Given the description of an element on the screen output the (x, y) to click on. 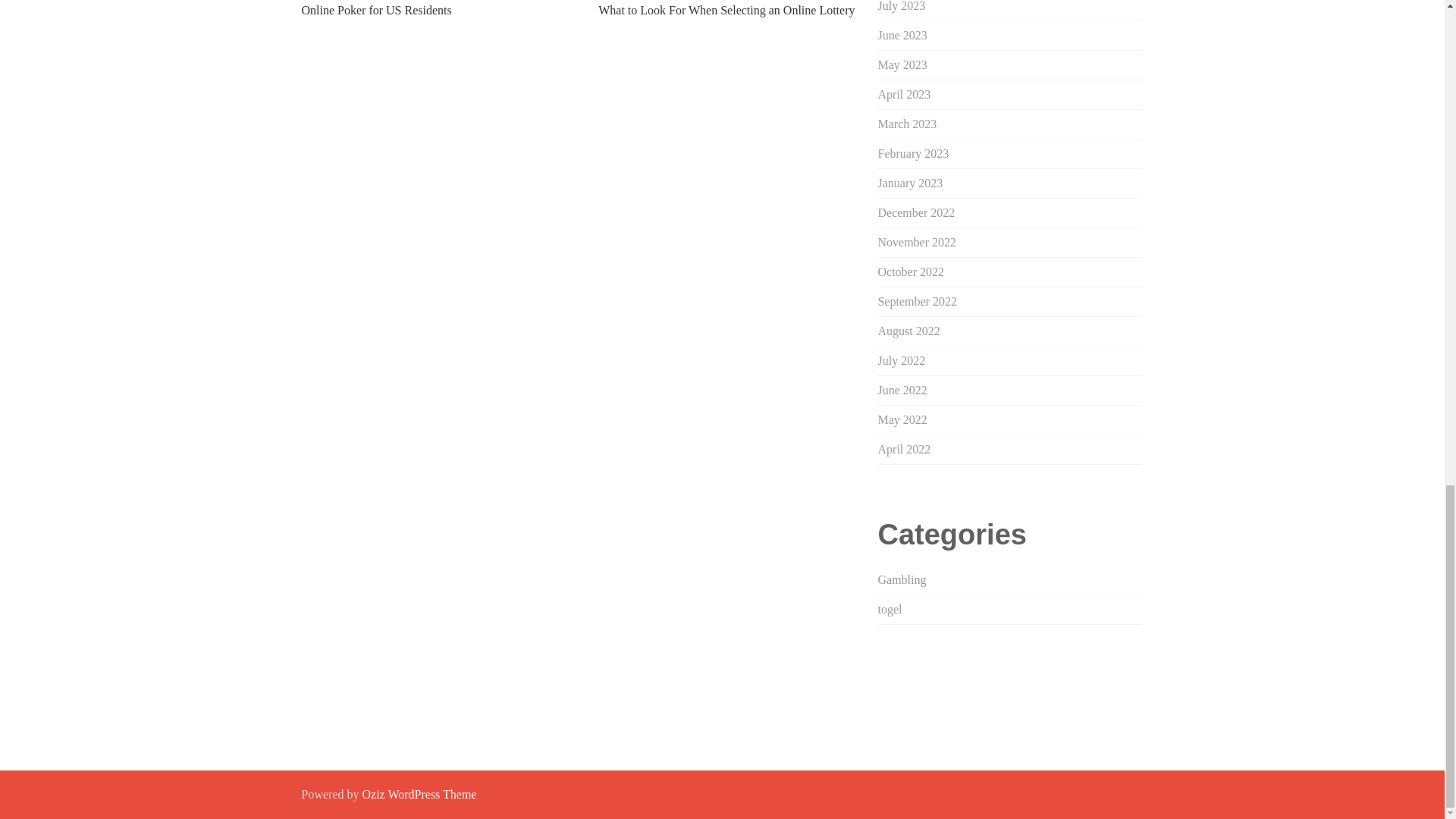
August 2022 (908, 330)
November 2022 (916, 241)
June 2023 (902, 34)
July 2023 (901, 6)
May 2023 (902, 64)
Online Poker for US Residents (376, 10)
February 2023 (913, 153)
December 2022 (916, 212)
September 2022 (916, 300)
March 2023 (907, 123)
